Given the description of an element on the screen output the (x, y) to click on. 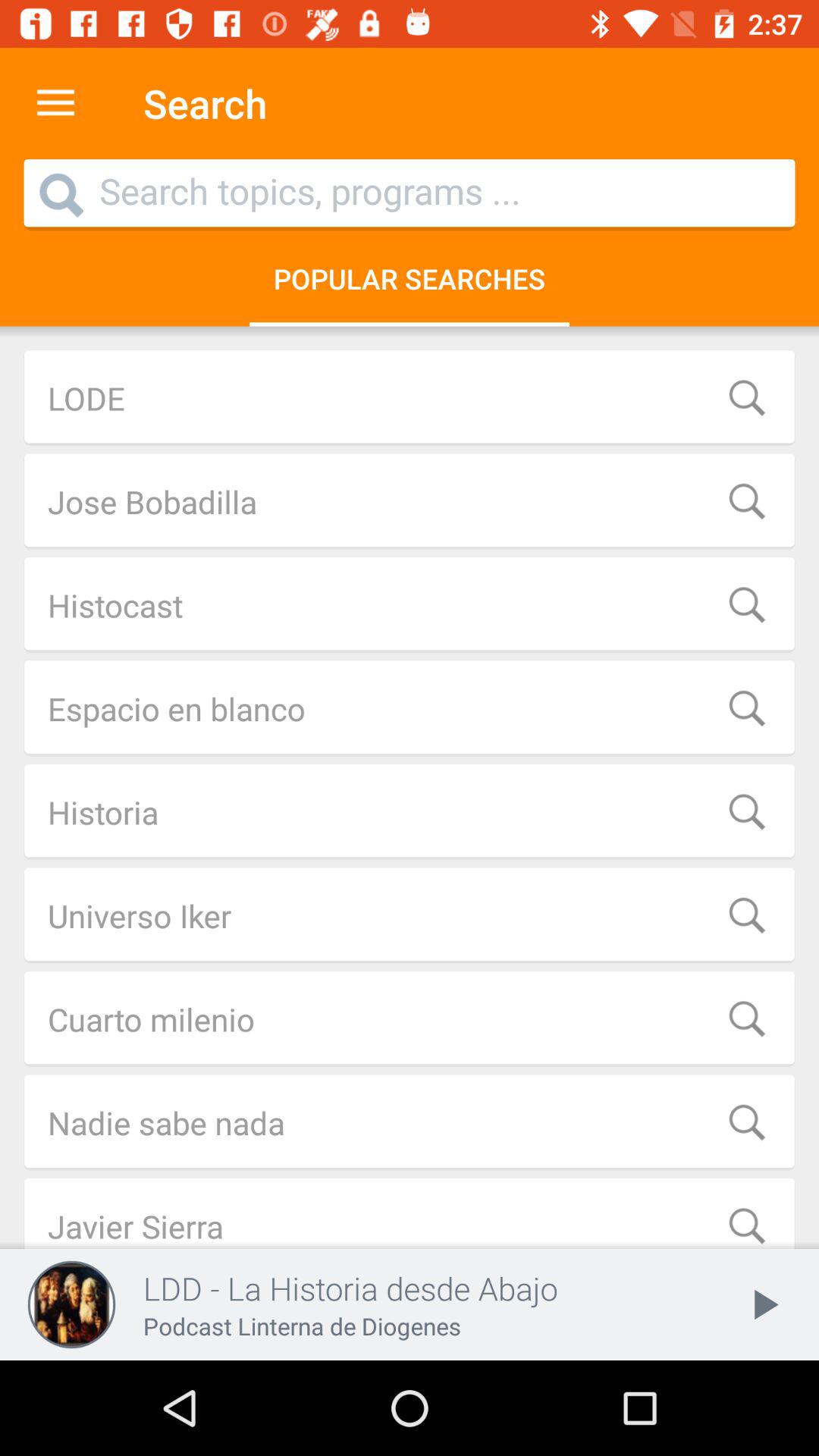
choose the icon above the cuarto milenio item (409, 915)
